Given the description of an element on the screen output the (x, y) to click on. 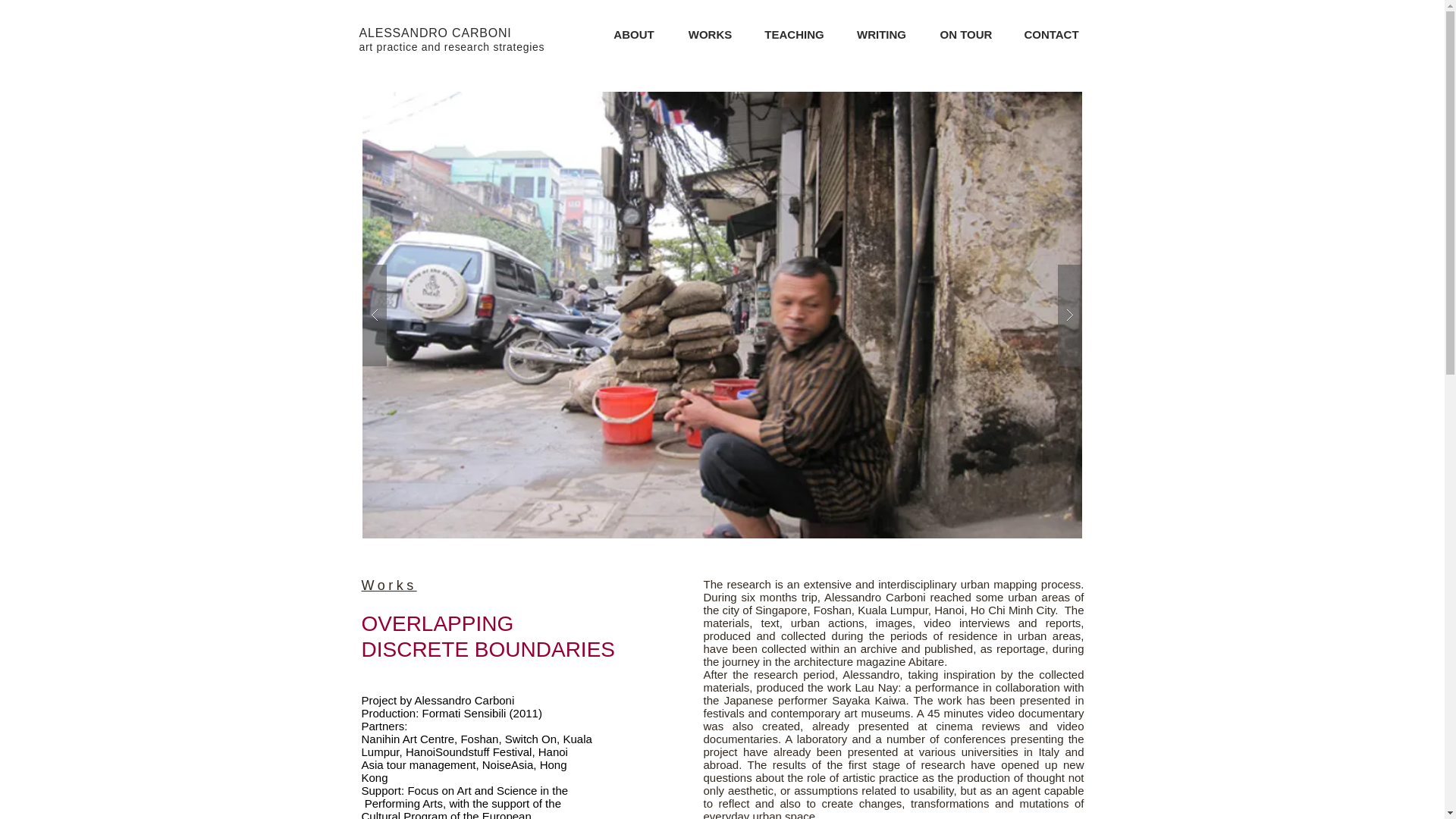
ON TOUR (966, 33)
ABOUT (633, 33)
CONTACT (1051, 33)
Focus on Art and Science in the  Performing Arts (464, 796)
WORKS (710, 33)
Works (388, 585)
NoiseAsia, Hong Kong (463, 770)
WRITING (451, 39)
Switch On, (881, 33)
HanoiSoundstuff Festival (532, 738)
TEACHING (469, 751)
